Given the description of an element on the screen output the (x, y) to click on. 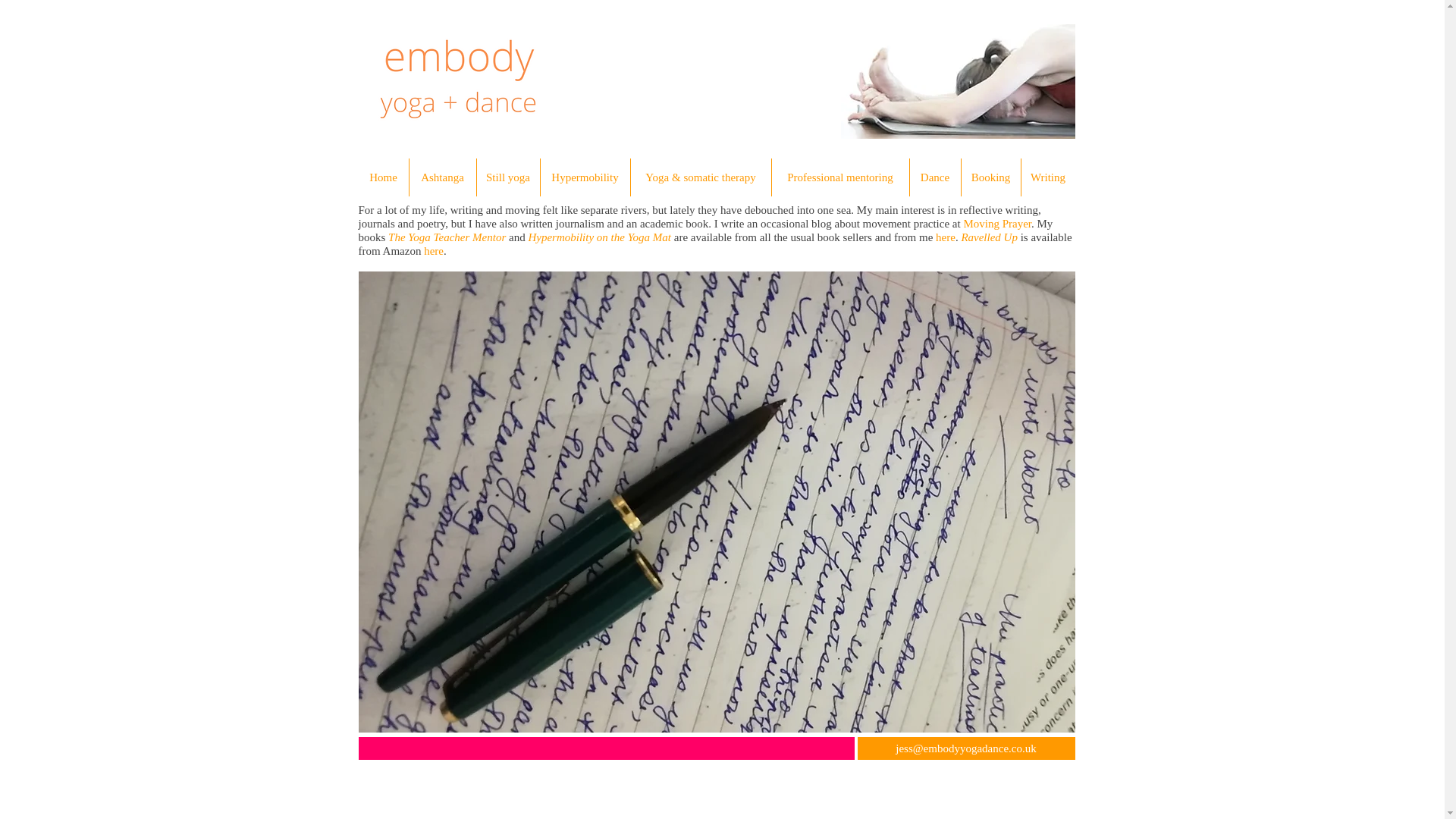
The Yoga Teacher Mentor (446, 236)
Professional mentoring (839, 177)
Still yoga (507, 177)
Writing (1047, 177)
here (433, 250)
Home (382, 177)
Hypermobility (584, 177)
here (945, 236)
Dance (935, 177)
Ravelled Up (988, 236)
